Given the description of an element on the screen output the (x, y) to click on. 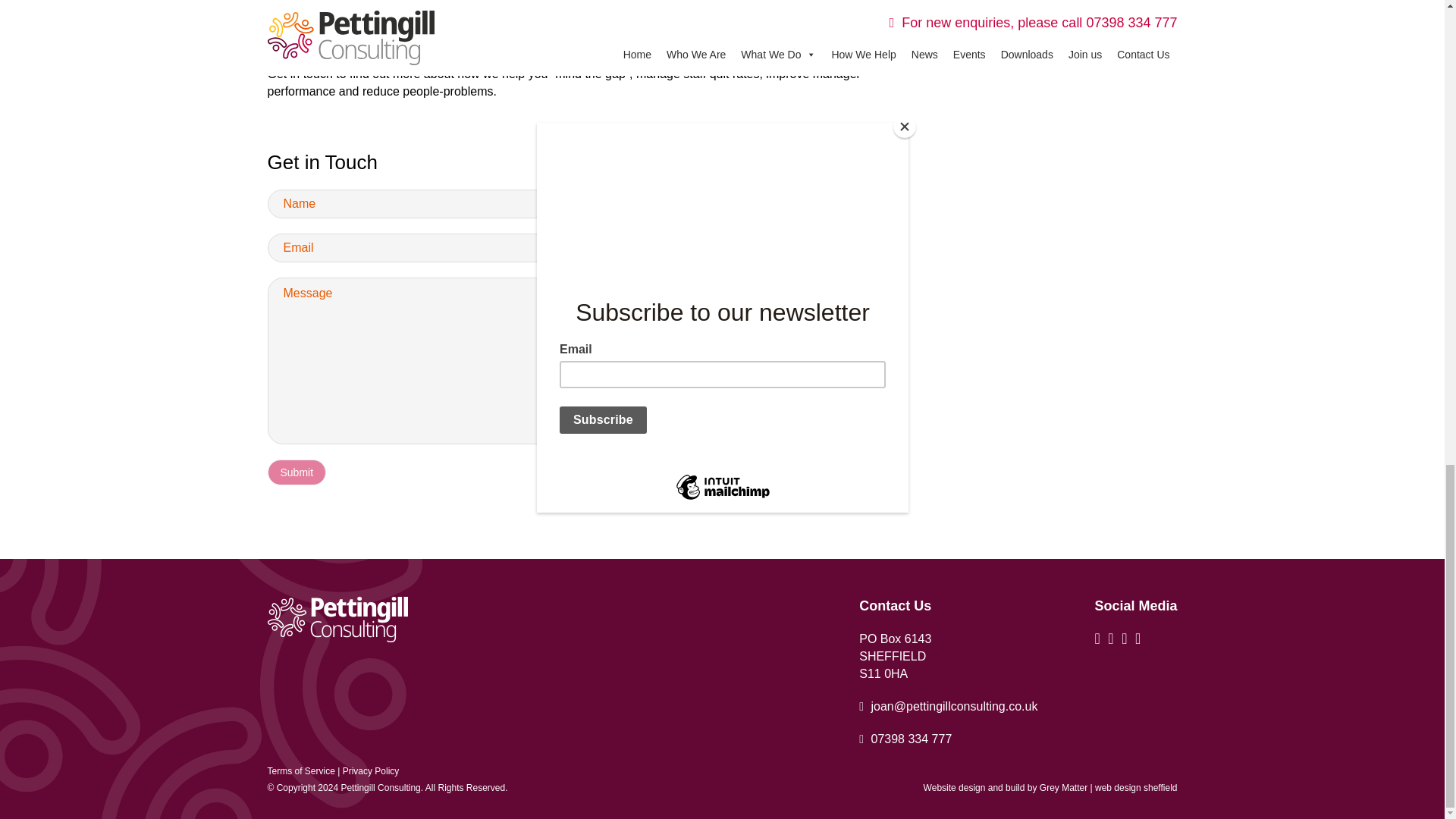
Submit (296, 472)
